Given the description of an element on the screen output the (x, y) to click on. 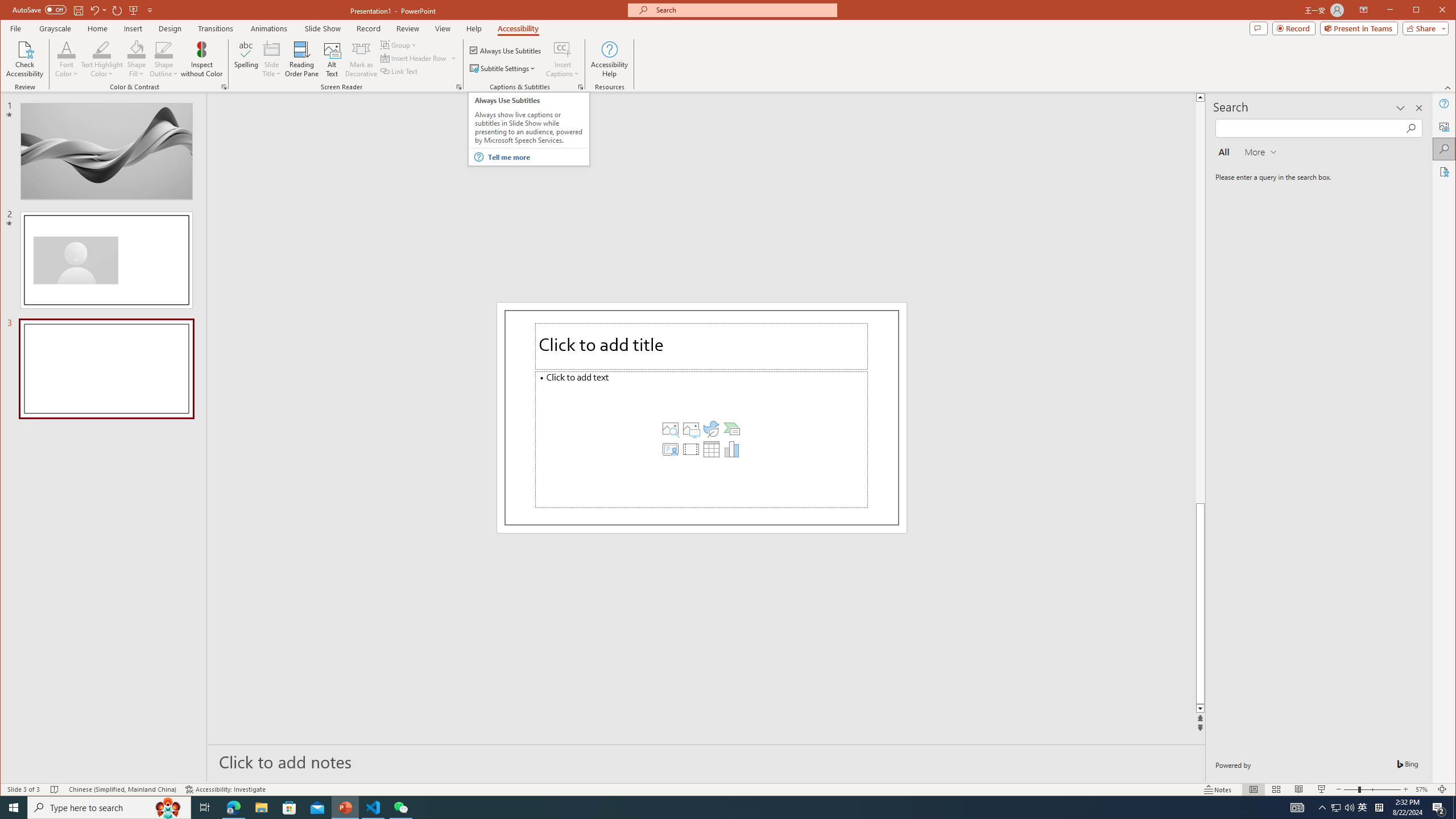
Insert a SmartArt Graphic (731, 428)
Color & Contrast (223, 86)
Reading Order Pane (301, 59)
Insert Captions (562, 59)
